Given the description of an element on the screen output the (x, y) to click on. 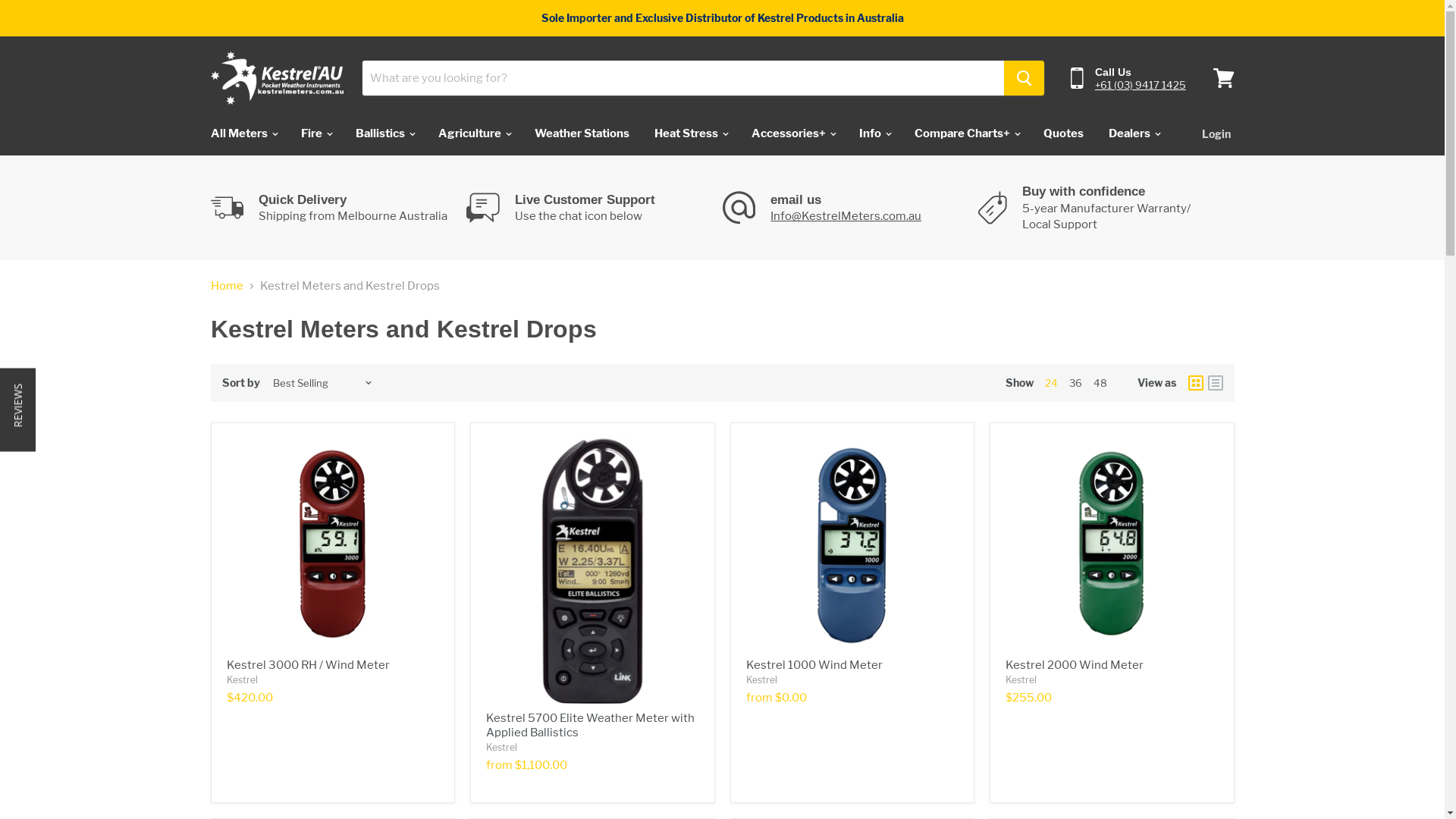
Quotes Element type: text (1062, 133)
Fire Element type: text (315, 133)
+61 (03) 9417 1425 Element type: text (1140, 84)
Kestrel 3000 RH / Wind Meter Element type: text (307, 664)
Agriculture Element type: text (473, 133)
Kestrel 5700 Elite Weather Meter with Applied Ballistics Element type: text (590, 725)
24 Element type: text (1050, 382)
Info Element type: text (873, 133)
Compare Charts+ Element type: text (965, 133)
Weather Stations Element type: text (581, 133)
Dealers Element type: text (1132, 133)
36 Element type: text (1075, 382)
Heat Stress Element type: text (690, 133)
48 Element type: text (1100, 382)
Info@KestrelMeters.com.au Element type: text (845, 215)
View cart Element type: text (1223, 77)
Kestrel 1000 Wind Meter Element type: text (814, 664)
Kestrel 2000 Wind Meter Element type: text (1074, 664)
Ballistics Element type: text (384, 133)
Home Element type: text (226, 285)
Accessories+ Element type: text (792, 133)
All Meters Element type: text (242, 133)
Login Element type: text (1215, 133)
